Given the description of an element on the screen output the (x, y) to click on. 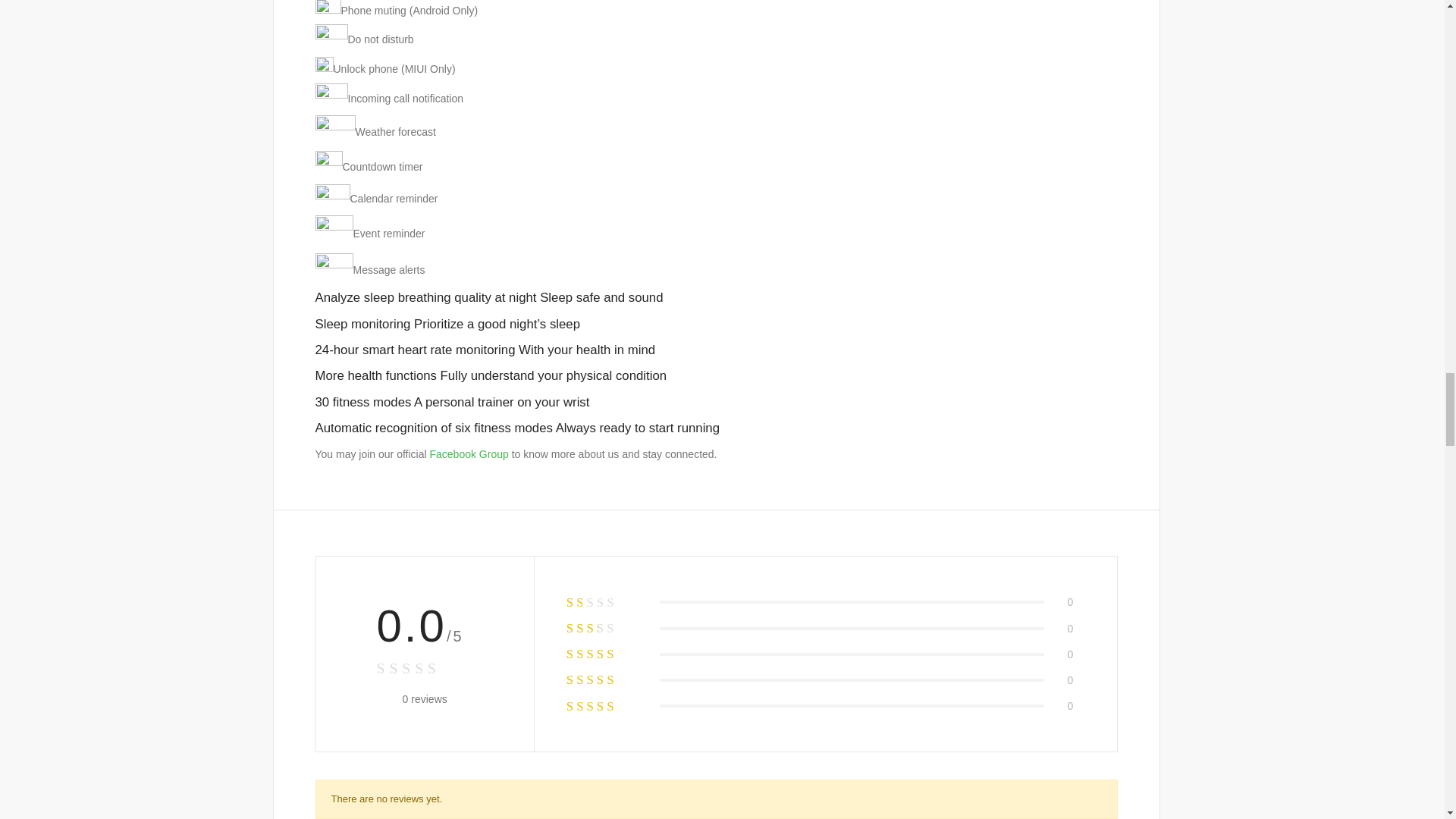
Rated 4 out of 5 (605, 679)
Rated 5 out of 5 (605, 706)
Rated 2 out of 5 (605, 628)
Rated 3 out of 5 (605, 653)
Rated 1 out of 5 (605, 602)
Rated 0.0 out of 5 (423, 668)
